Given the description of an element on the screen output the (x, y) to click on. 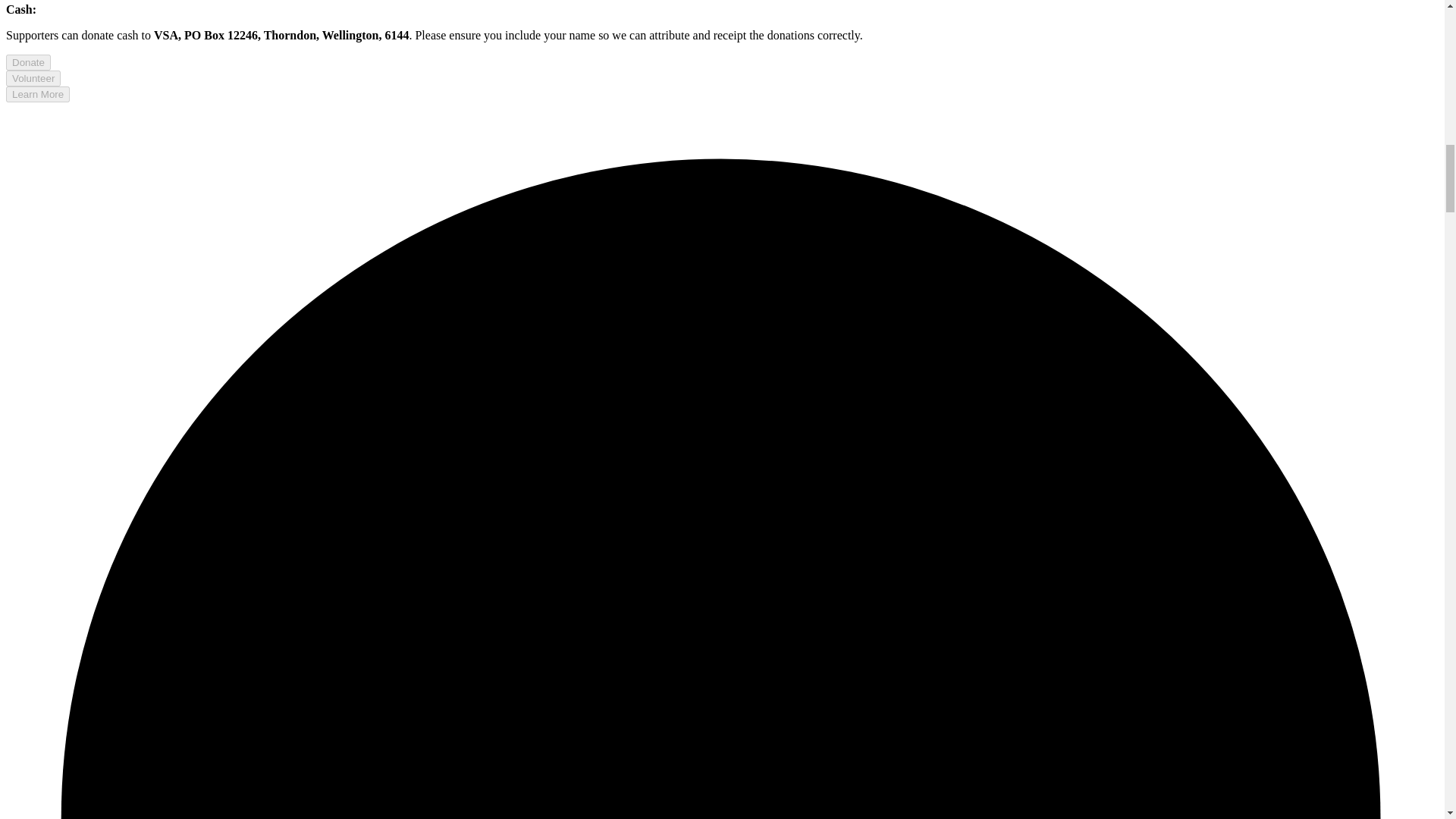
Learn More (37, 94)
Learn More (37, 92)
Volunteer (33, 77)
Volunteer (33, 78)
Donate (27, 61)
Donate (27, 62)
